Given the description of an element on the screen output the (x, y) to click on. 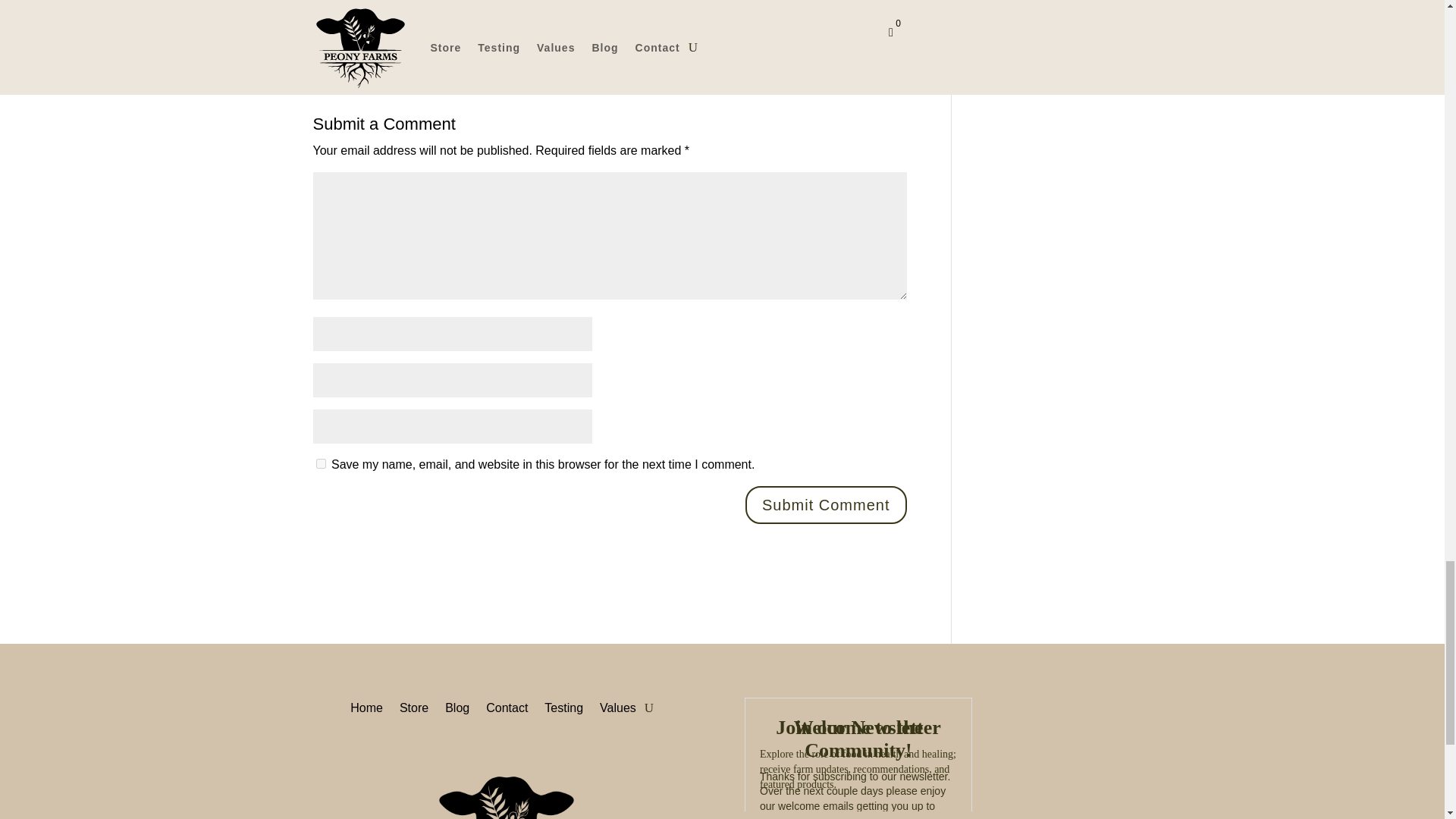
Store (413, 704)
Values (617, 704)
Contact (506, 704)
Submit Comment (826, 505)
yes (319, 463)
Blog (456, 704)
Submit Comment (826, 505)
Testing (563, 704)
Home (366, 704)
Reply (867, 9)
